Given the description of an element on the screen output the (x, y) to click on. 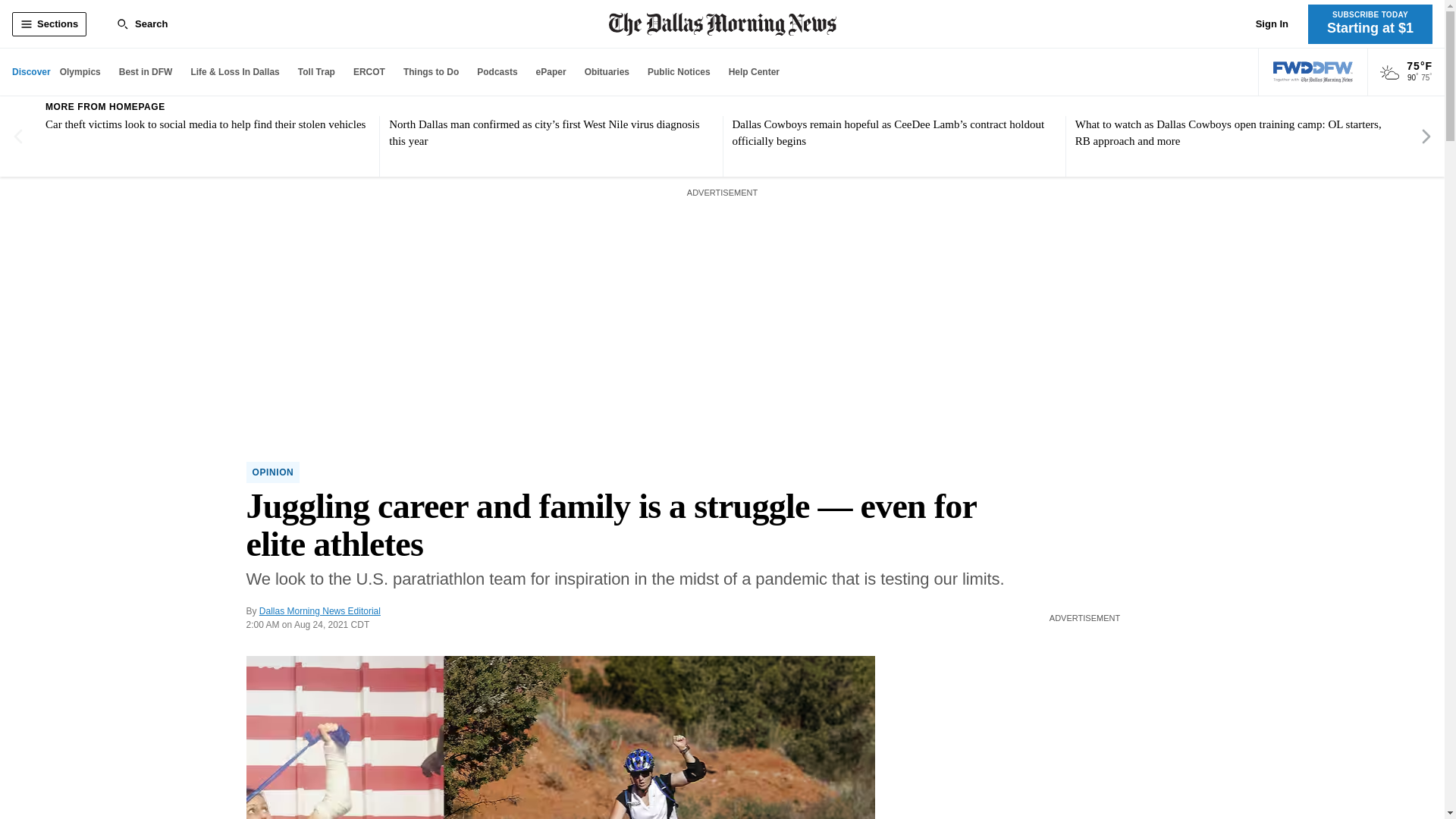
FWD DFW, Together with The Dallas Morning News (1313, 72)
Few clouds (1389, 72)
